Given the description of an element on the screen output the (x, y) to click on. 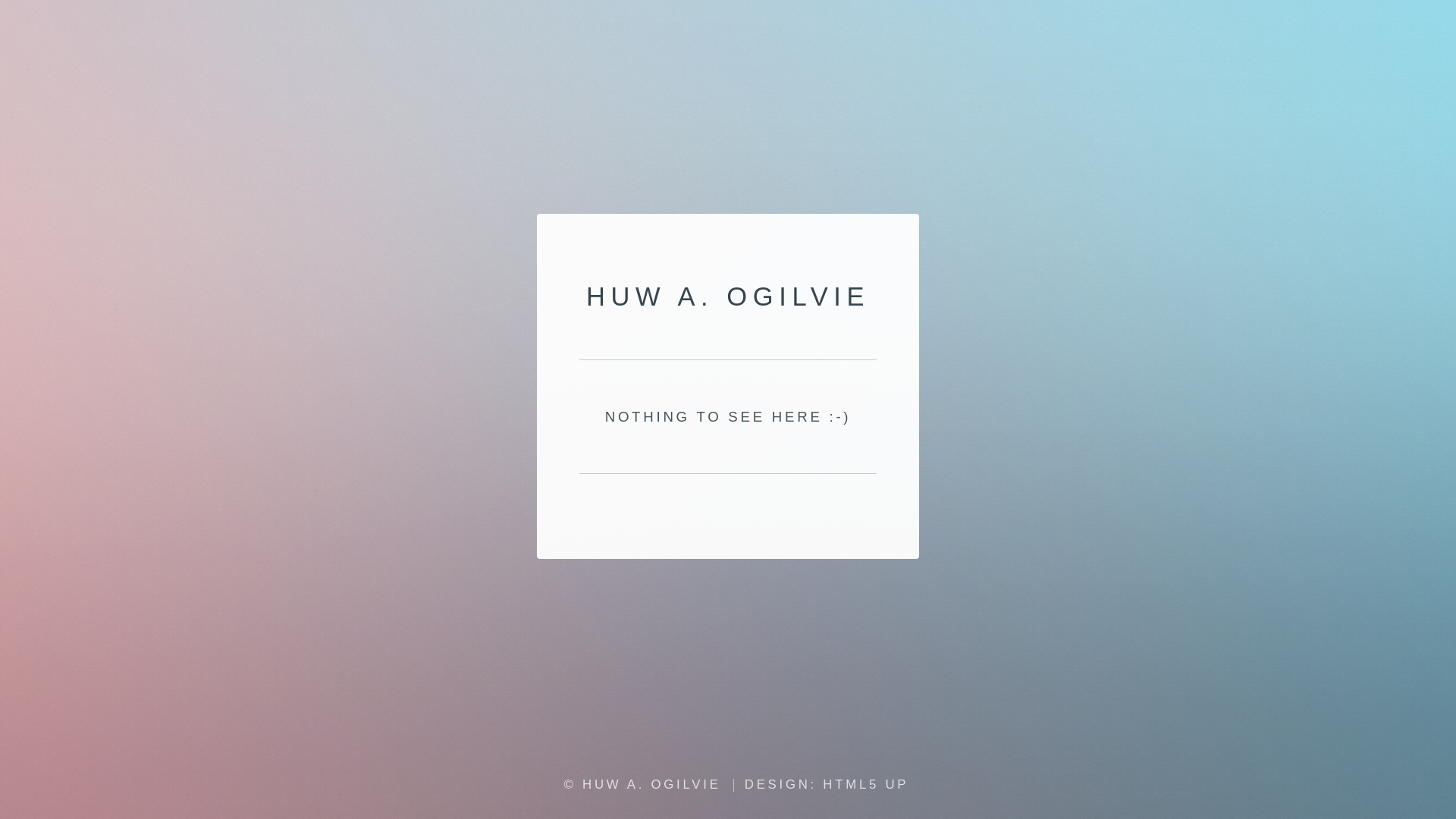
HTML5 UP Element type: text (865, 784)
